Given the description of an element on the screen output the (x, y) to click on. 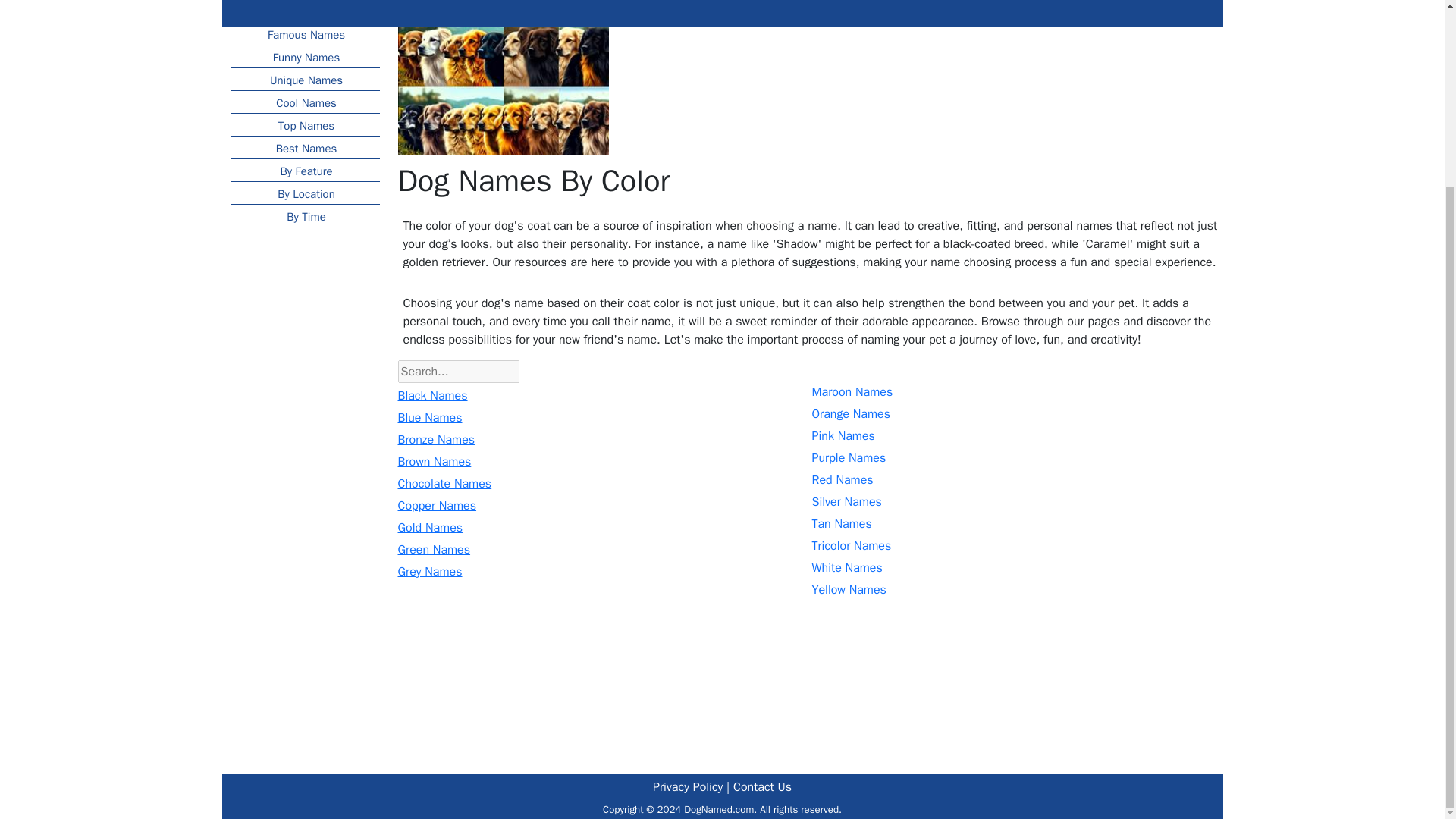
By Location (304, 191)
Famous Names (304, 33)
By Time (304, 214)
Cool Names (304, 101)
Unique Names (304, 78)
By Feature (304, 169)
Best Names (304, 146)
Top Names (304, 124)
Funny Names (304, 56)
Popular Names (304, 11)
